Given the description of an element on the screen output the (x, y) to click on. 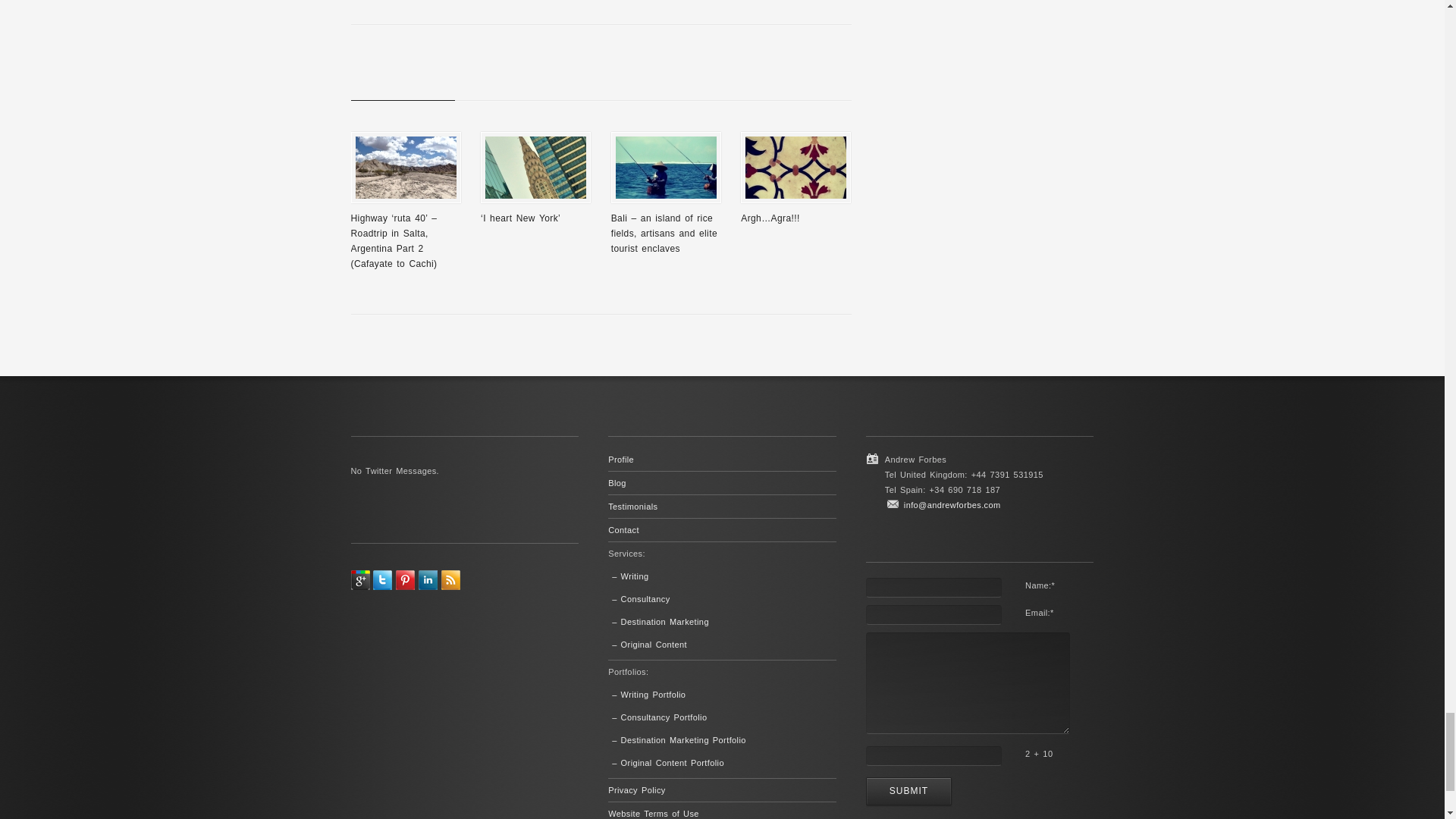
Submit (909, 791)
